Given the description of an element on the screen output the (x, y) to click on. 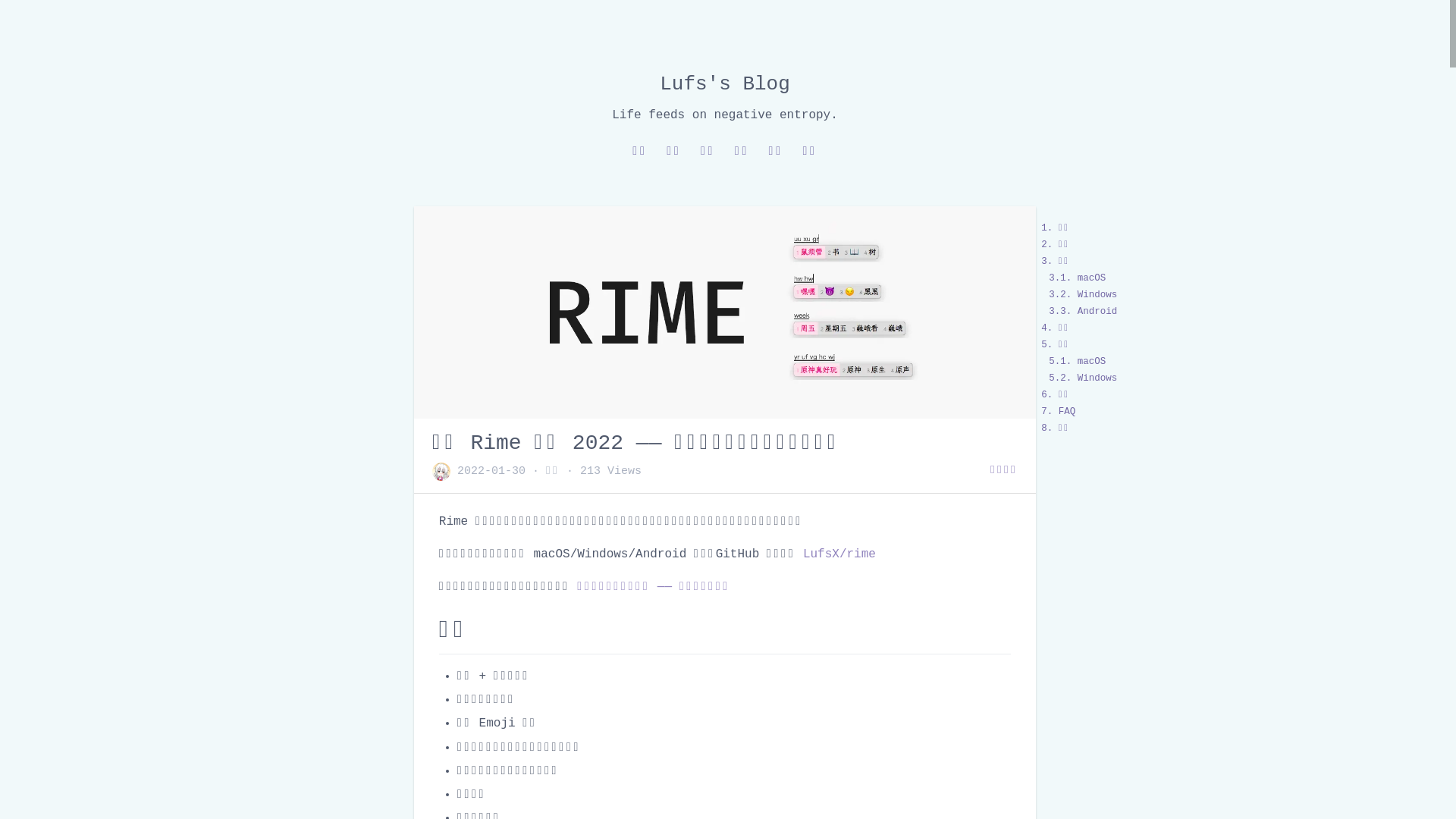
5.2. Windows Element type: text (1082, 378)
LufsX/rime Element type: text (839, 554)
5.1. macOS Element type: text (1076, 361)
3.3. Android Element type: text (1082, 311)
3.1. macOS Element type: text (1076, 278)
7. FAQ Element type: text (1058, 411)
3.2. Windows Element type: text (1082, 294)
Lufs's Blog Element type: text (724, 83)
